Given the description of an element on the screen output the (x, y) to click on. 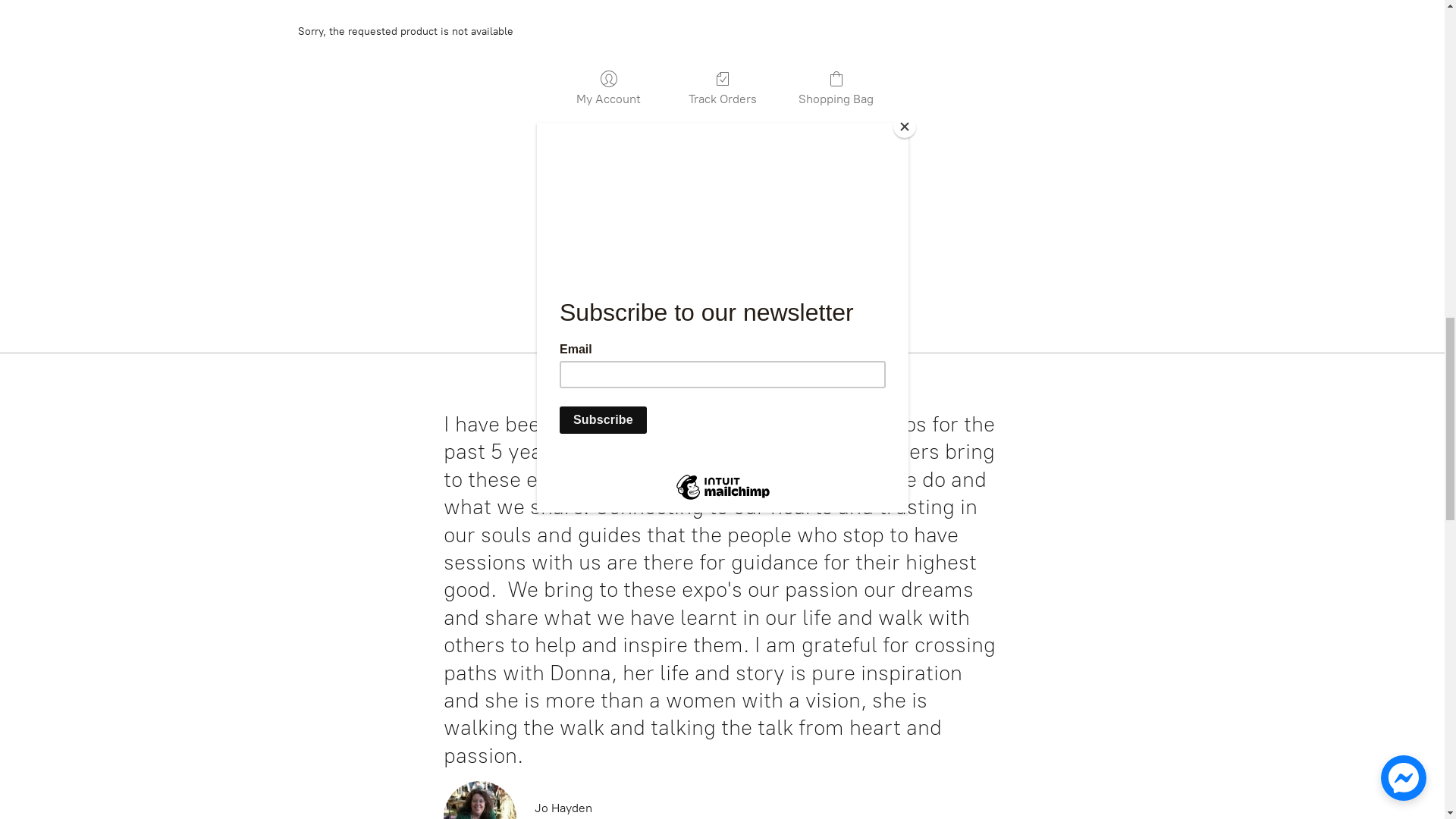
Contact us Element type: text (247, 26)
About Element type: text (103, 26)
Store Element type: text (45, 26)
Location Element type: text (168, 26)
